Given the description of an element on the screen output the (x, y) to click on. 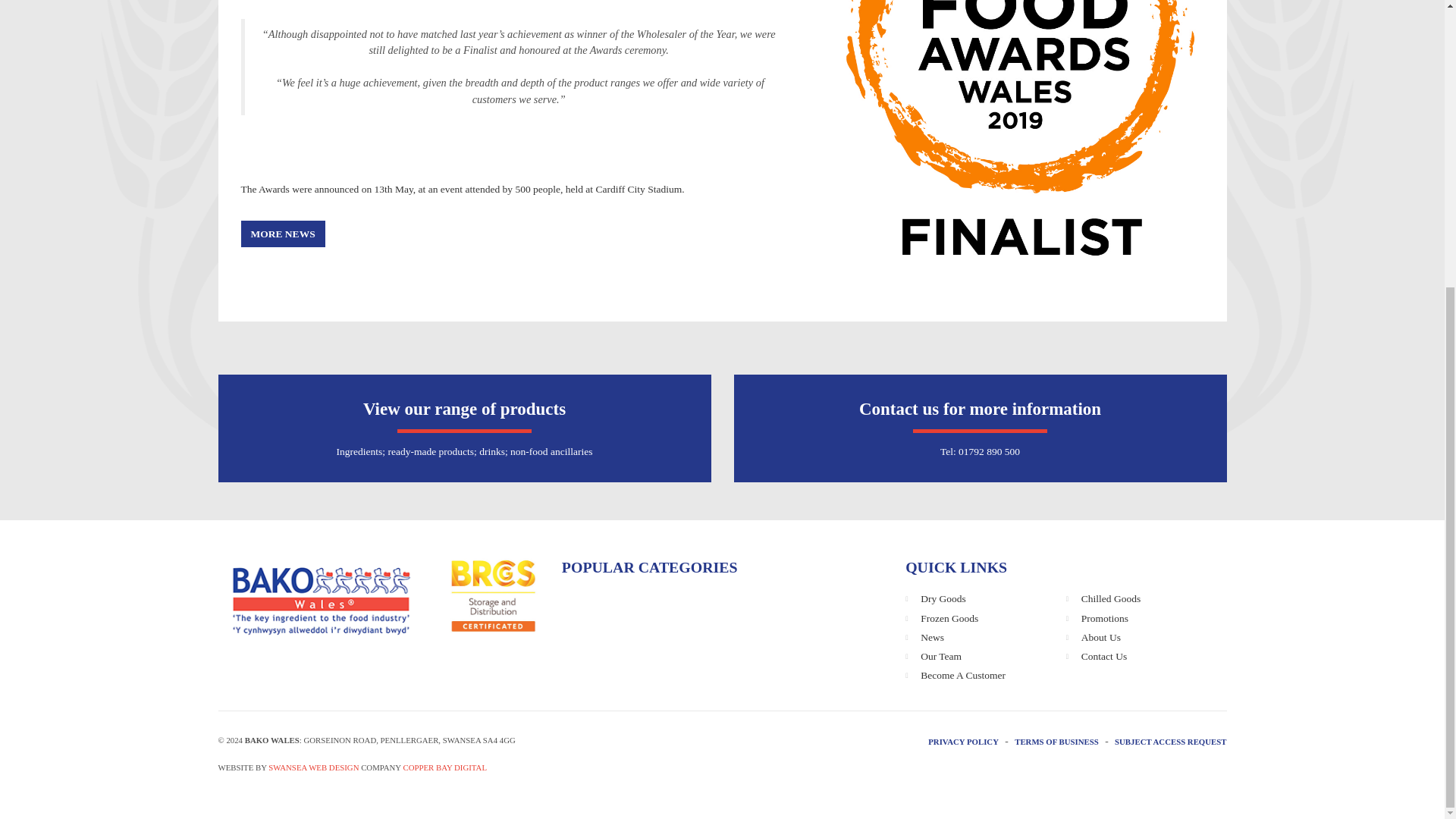
MORE NEWS (282, 233)
